Given the description of an element on the screen output the (x, y) to click on. 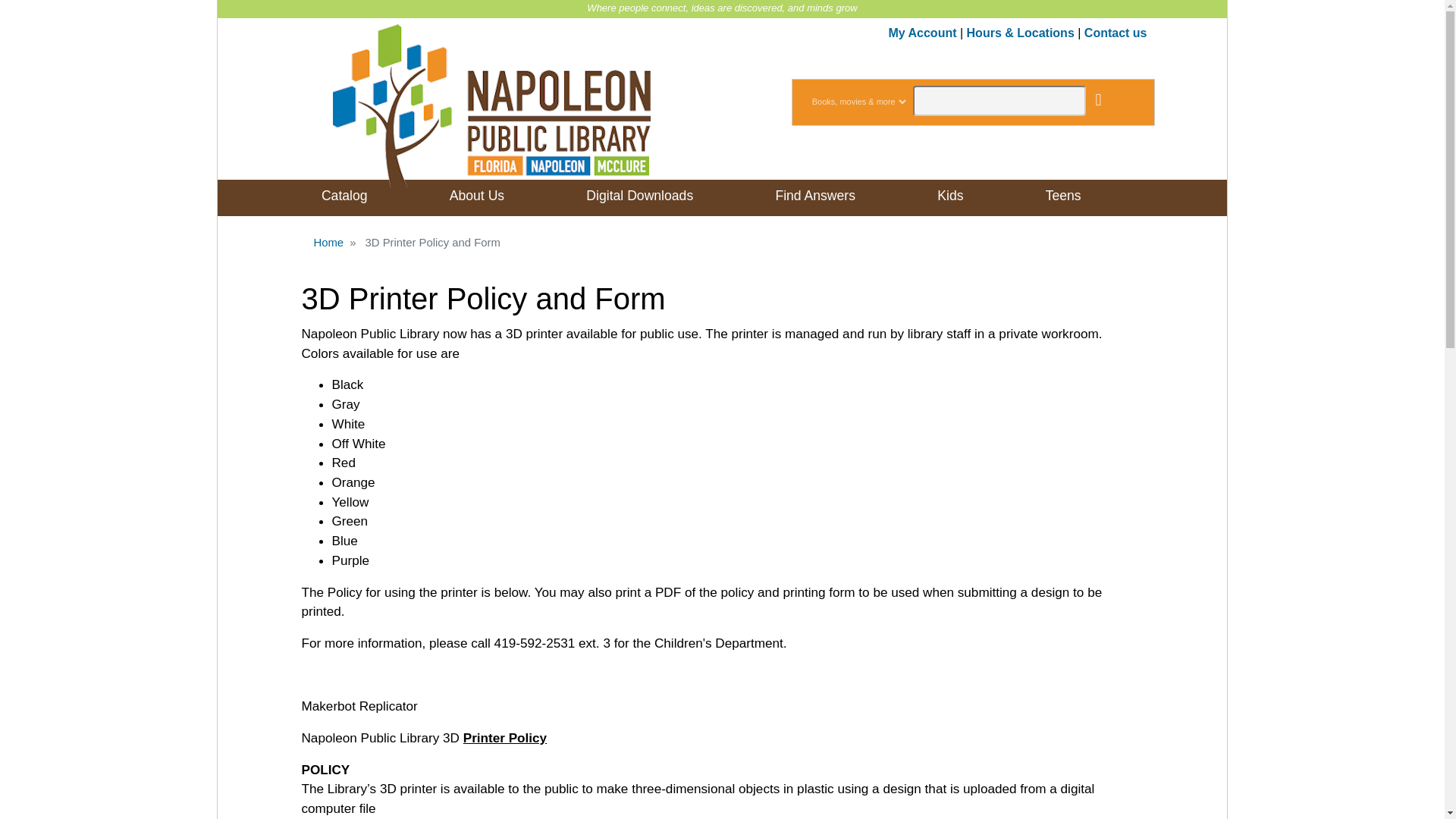
Teens (1062, 196)
source (858, 101)
Home (491, 98)
Digital Downloads (639, 196)
About Us (476, 196)
Home (328, 242)
Skip to main content (721, 1)
Find Answers (815, 196)
Put search query here (999, 100)
Contact us (1115, 32)
